Given the description of an element on the screen output the (x, y) to click on. 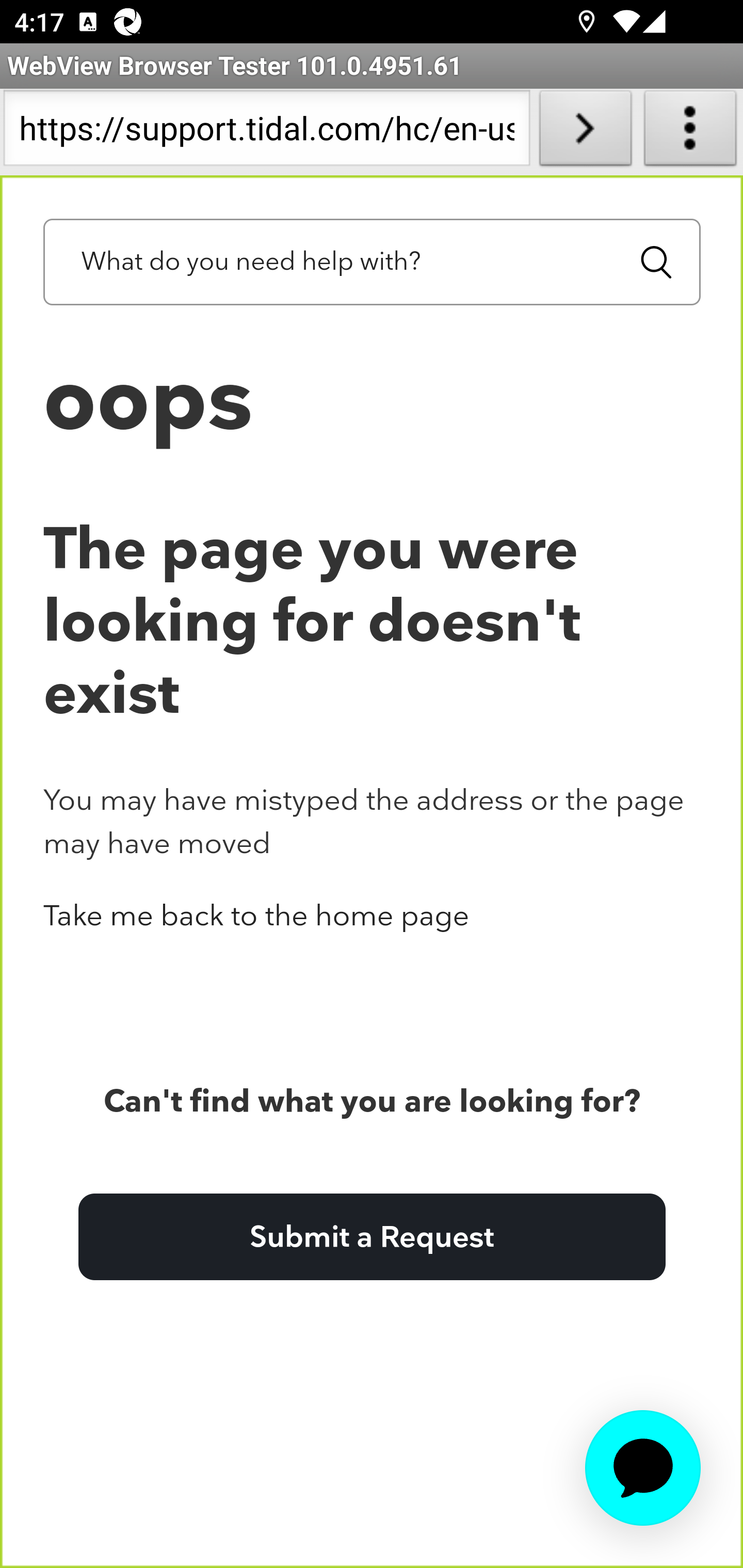
https://support.tidal.com/hc/en-usClassical (266, 132)
Load URL (585, 132)
About WebView (690, 132)
Take me back to the home page (256, 915)
Submit a Request (371, 1235)
